Given the description of an element on the screen output the (x, y) to click on. 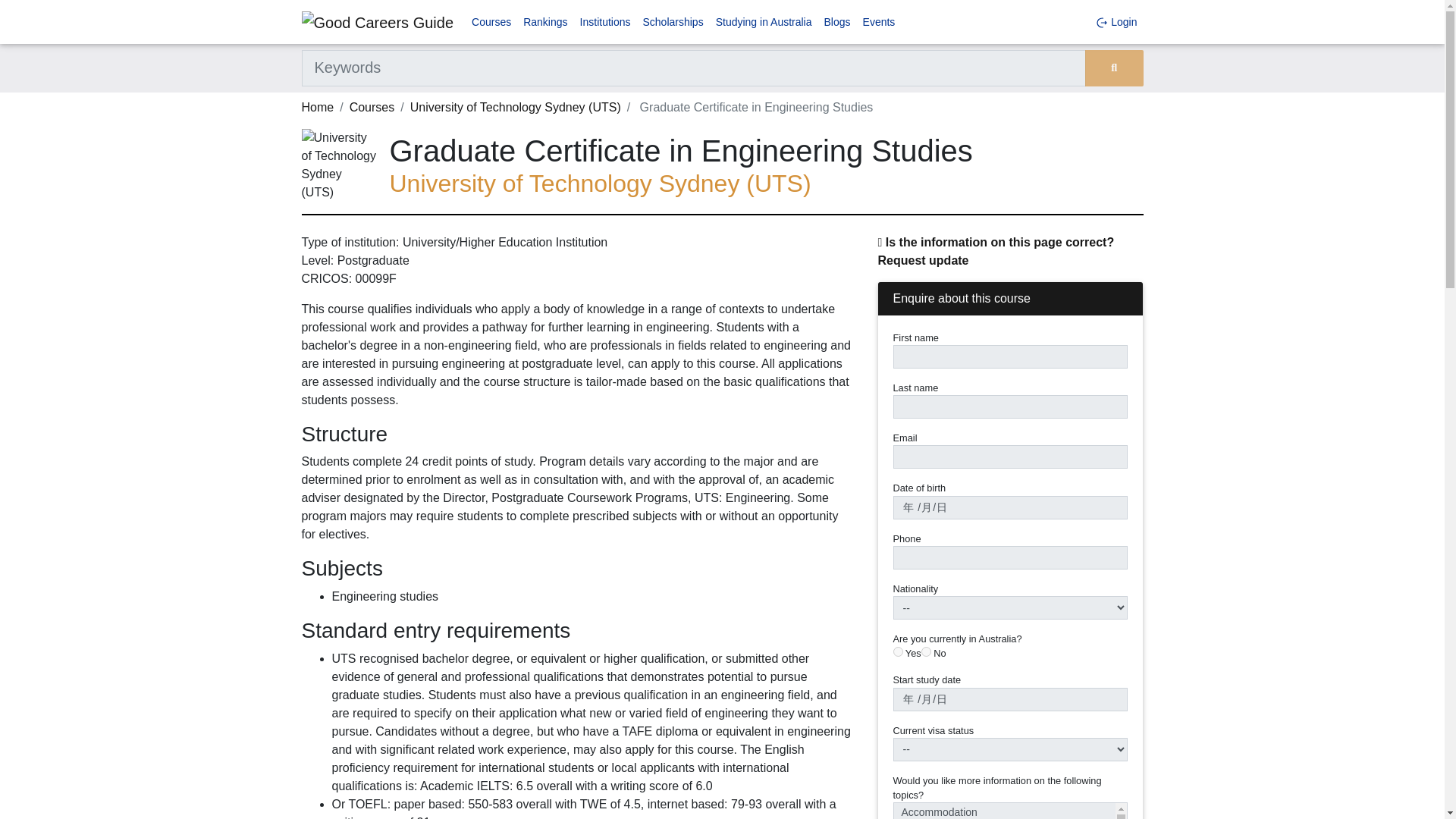
no (926, 651)
Scholarships (673, 21)
Courses (371, 106)
Courses (490, 21)
Login (1115, 21)
Institutions (605, 21)
Rankings (544, 21)
yes (897, 651)
Blogs (837, 21)
Events (879, 21)
Is the information on this page correct? Request update (996, 250)
Studying in Australia (764, 21)
Home (317, 106)
